Given the description of an element on the screen output the (x, y) to click on. 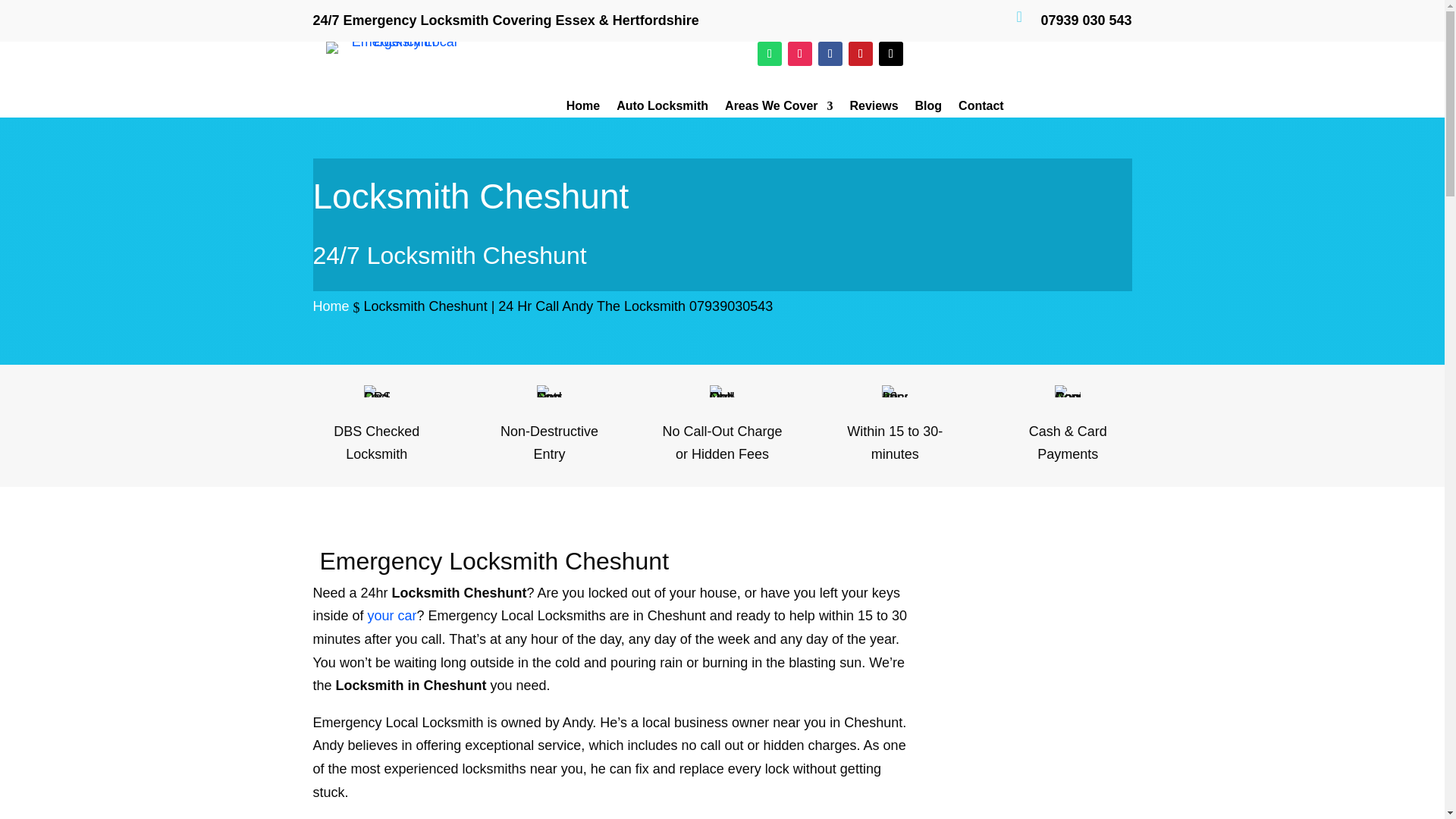
Follow on Facebook (830, 53)
Home (582, 108)
Auto Locksmith (661, 108)
Follow on WhatsApp (769, 53)
Follow on Pinterest (860, 53)
Accept-Cash-Card-Payments (1067, 390)
Follow on Instagram (799, 53)
Areas We Cover (778, 108)
Non-Destructive-Entry-Locksmith (549, 390)
No-Call-Out-Charge-Locksmith (722, 390)
